Given the description of an element on the screen output the (x, y) to click on. 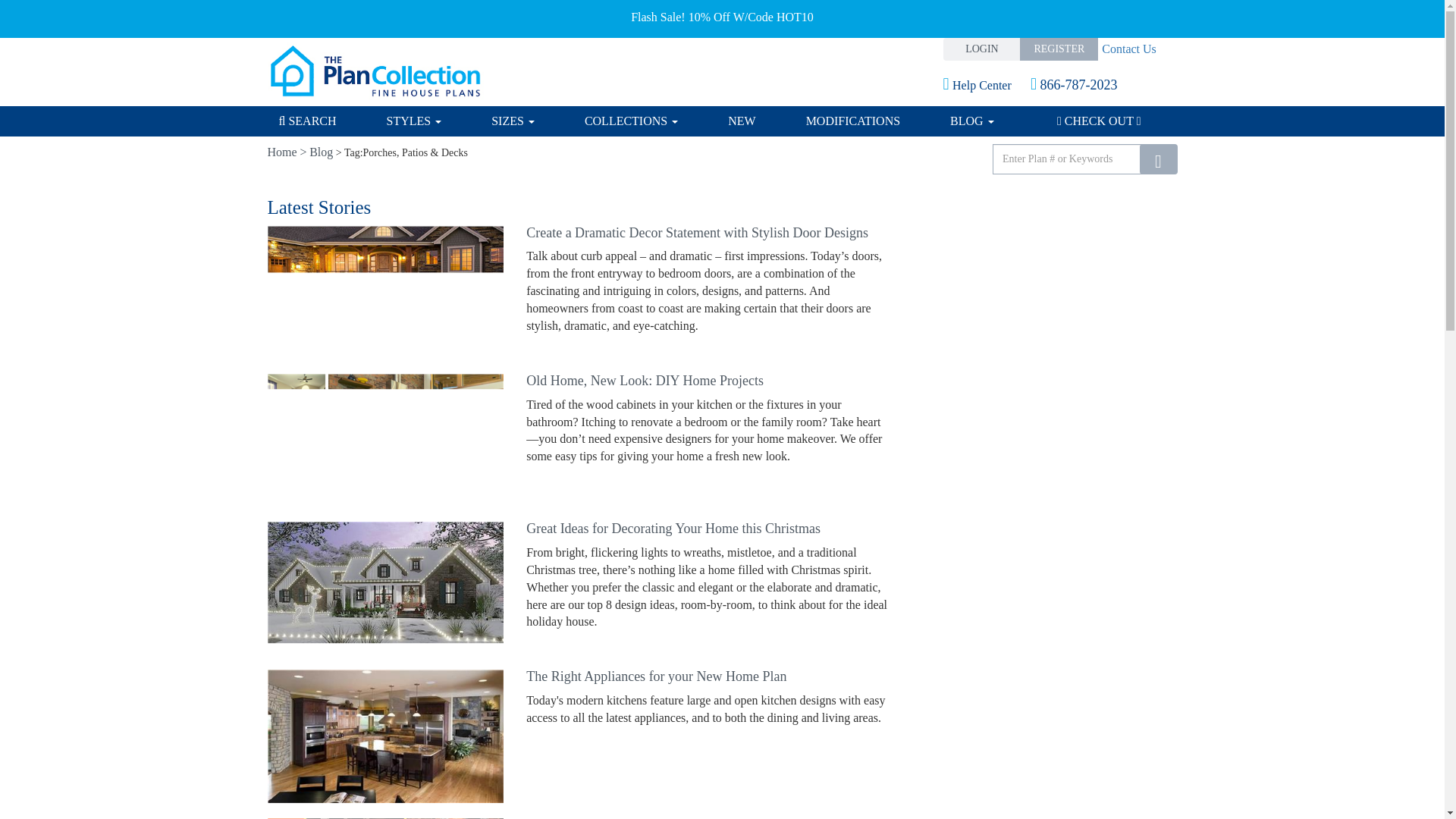
SEARCH (320, 121)
SIZES (512, 121)
STYLES (414, 121)
Help Center (989, 84)
Contact Us (1126, 48)
REGISTER (1058, 48)
LOGIN (982, 48)
